Given the description of an element on the screen output the (x, y) to click on. 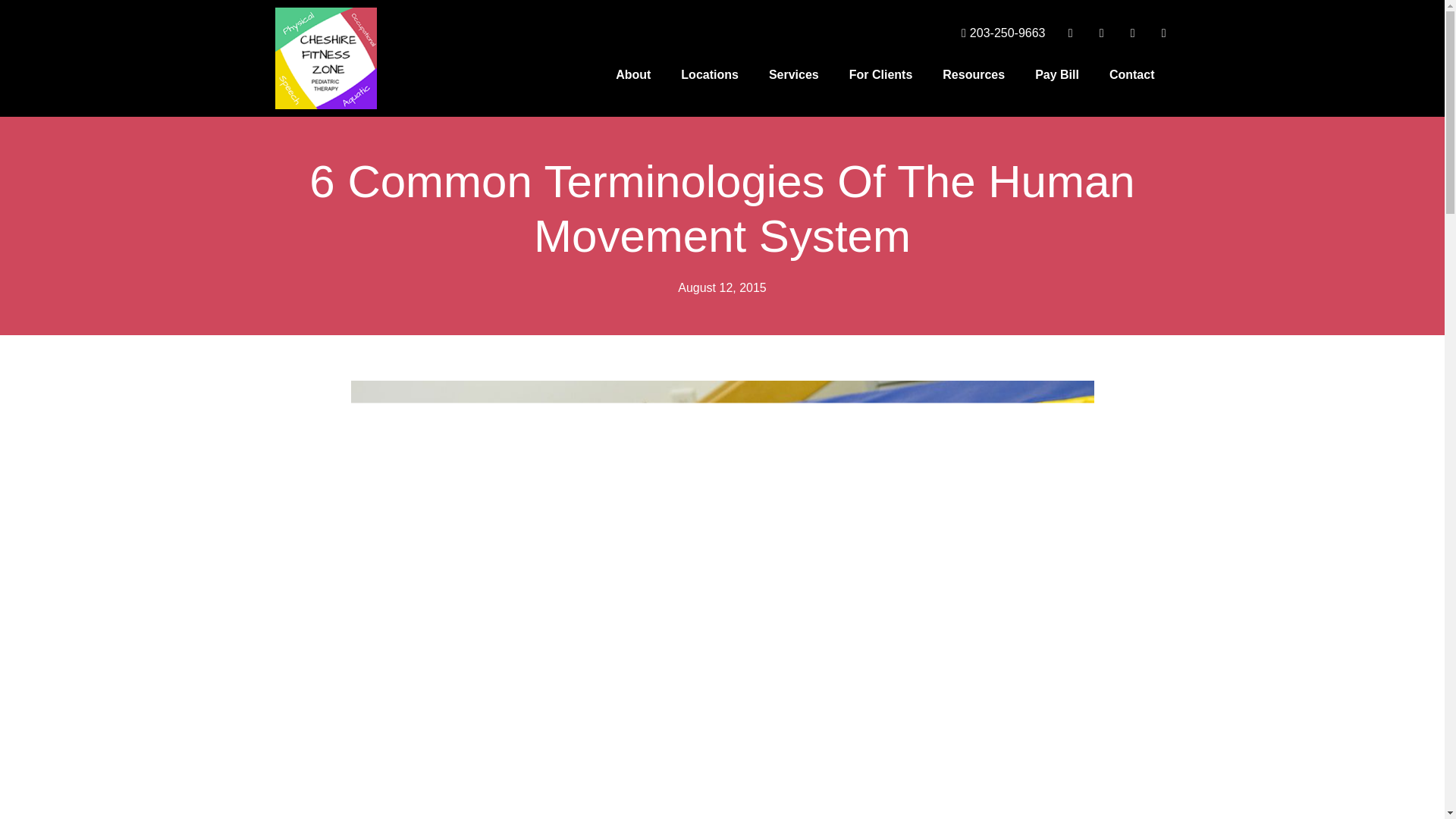
Pay Bill (1057, 74)
Services (794, 74)
203-250-9663 (997, 33)
Contact (1132, 74)
For Clients (881, 74)
About (632, 74)
Resources (973, 74)
Locations (709, 74)
